Given the description of an element on the screen output the (x, y) to click on. 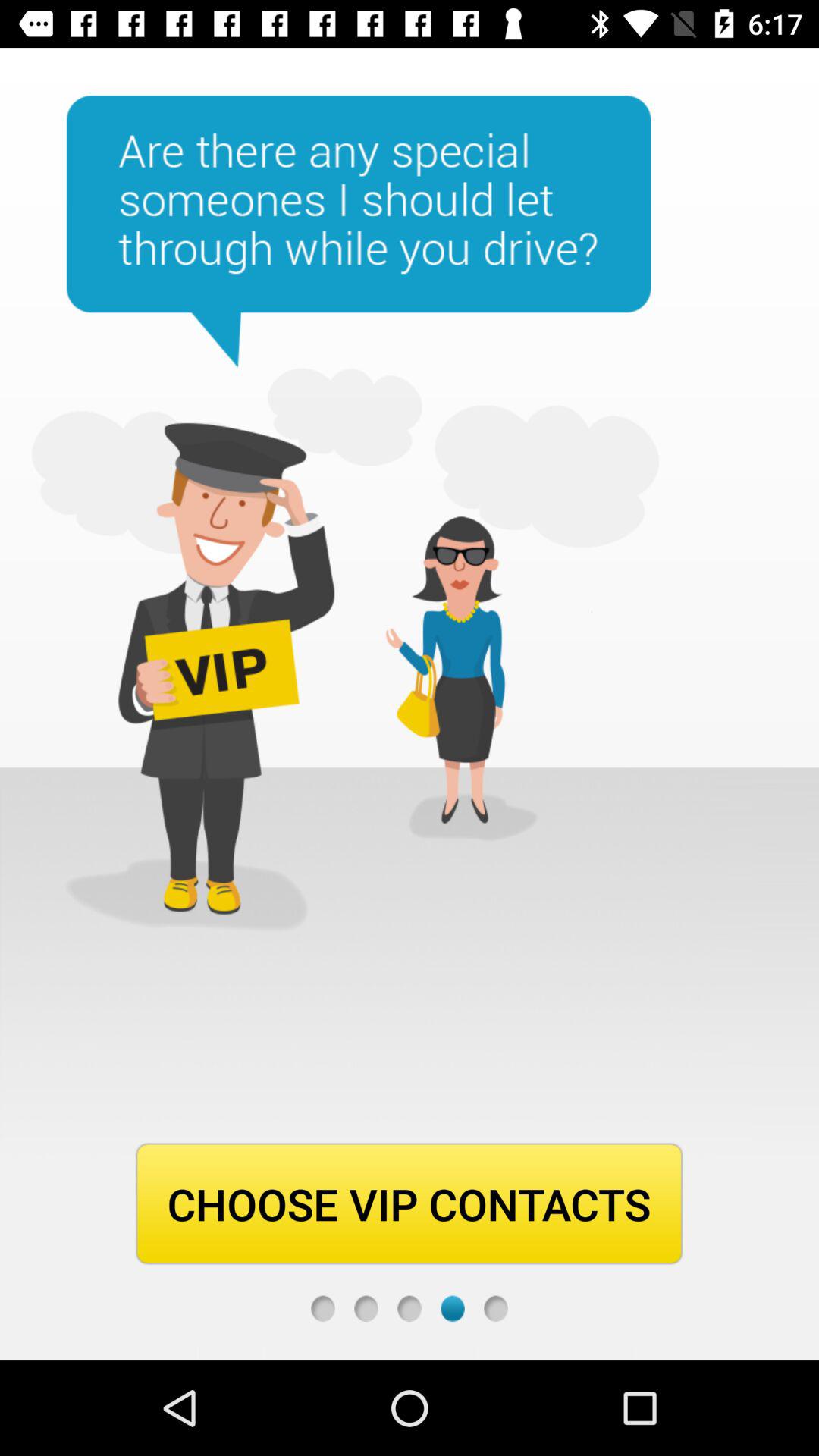
go back one image (409, 1308)
